Given the description of an element on the screen output the (x, y) to click on. 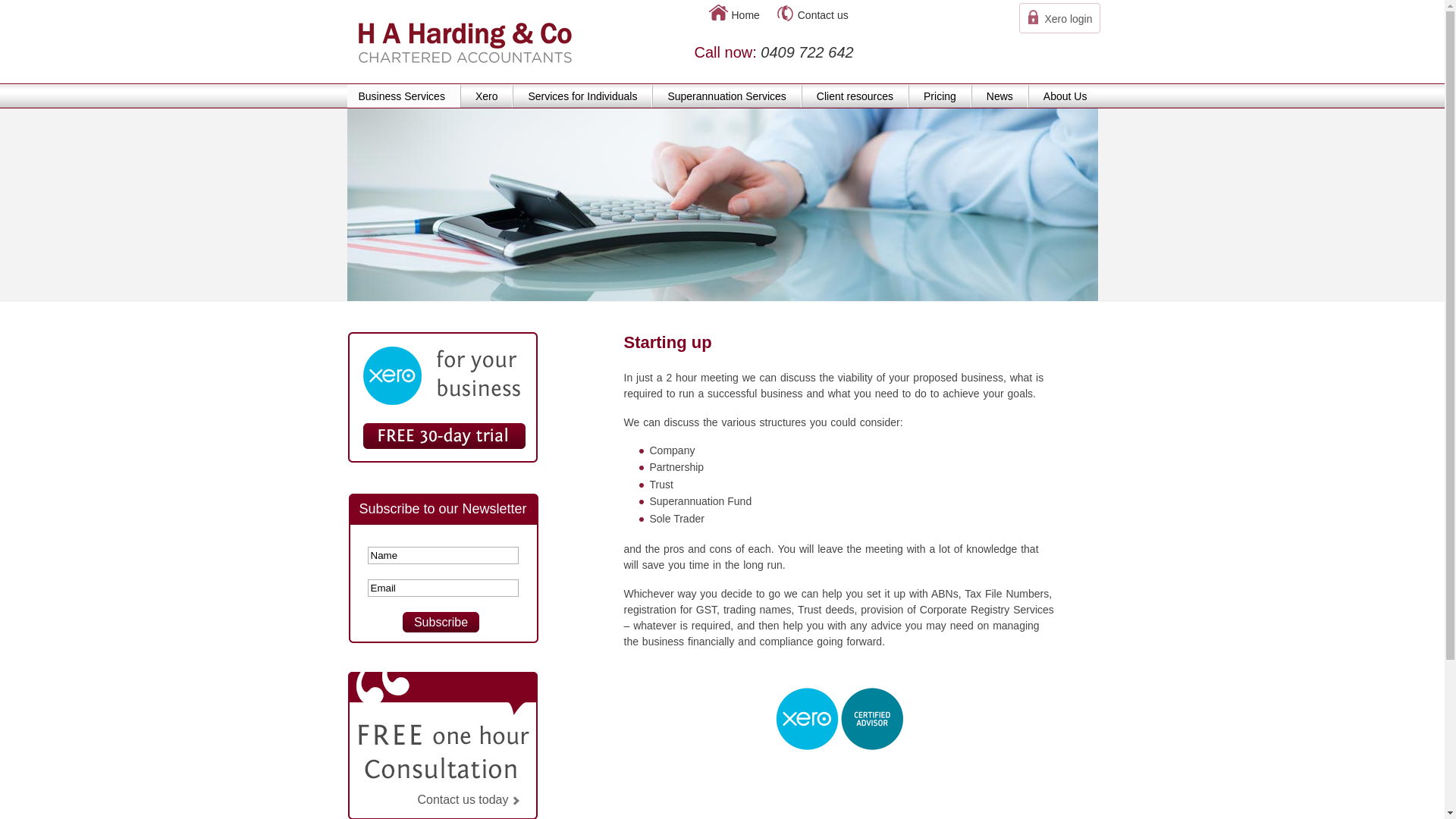
Xero free 30-day trial Element type: hover (443, 435)
Contact us Element type: text (822, 15)
     Element type: text (443, 435)
Client resources Element type: text (854, 95)
Xero Element type: text (486, 95)
Email Element type: hover (442, 587)
Pricing Element type: text (939, 95)
News Element type: text (999, 95)
Business Services Element type: text (403, 95)
Name Element type: hover (442, 555)
Xero login Element type: text (1068, 18)
Subscribe Element type: text (440, 621)
Home Element type: text (745, 15)
Contact us today Element type: text (465, 799)
About Us Element type: text (1064, 95)
Superannuation Services Element type: text (726, 95)
Services for Individuals Element type: text (582, 95)
